Given the description of an element on the screen output the (x, y) to click on. 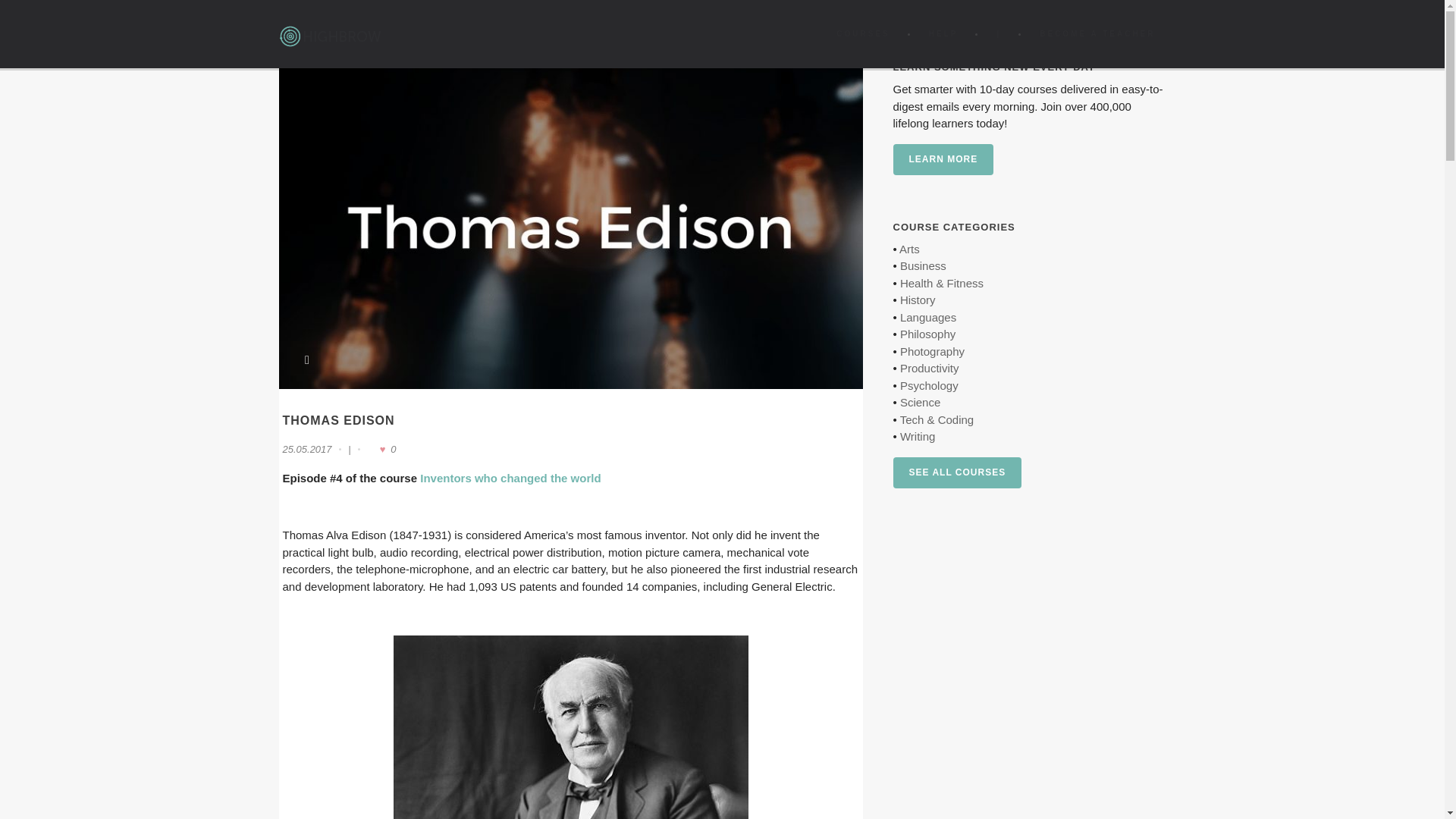
Become a teacher (1097, 33)
Inventors who changed the world (509, 477)
SEE ALL COURSES (957, 472)
Languages (927, 317)
Like this (381, 449)
0 (381, 449)
Courses (862, 33)
COURSES (862, 33)
Productivity (929, 367)
Arts (909, 248)
